Given the description of an element on the screen output the (x, y) to click on. 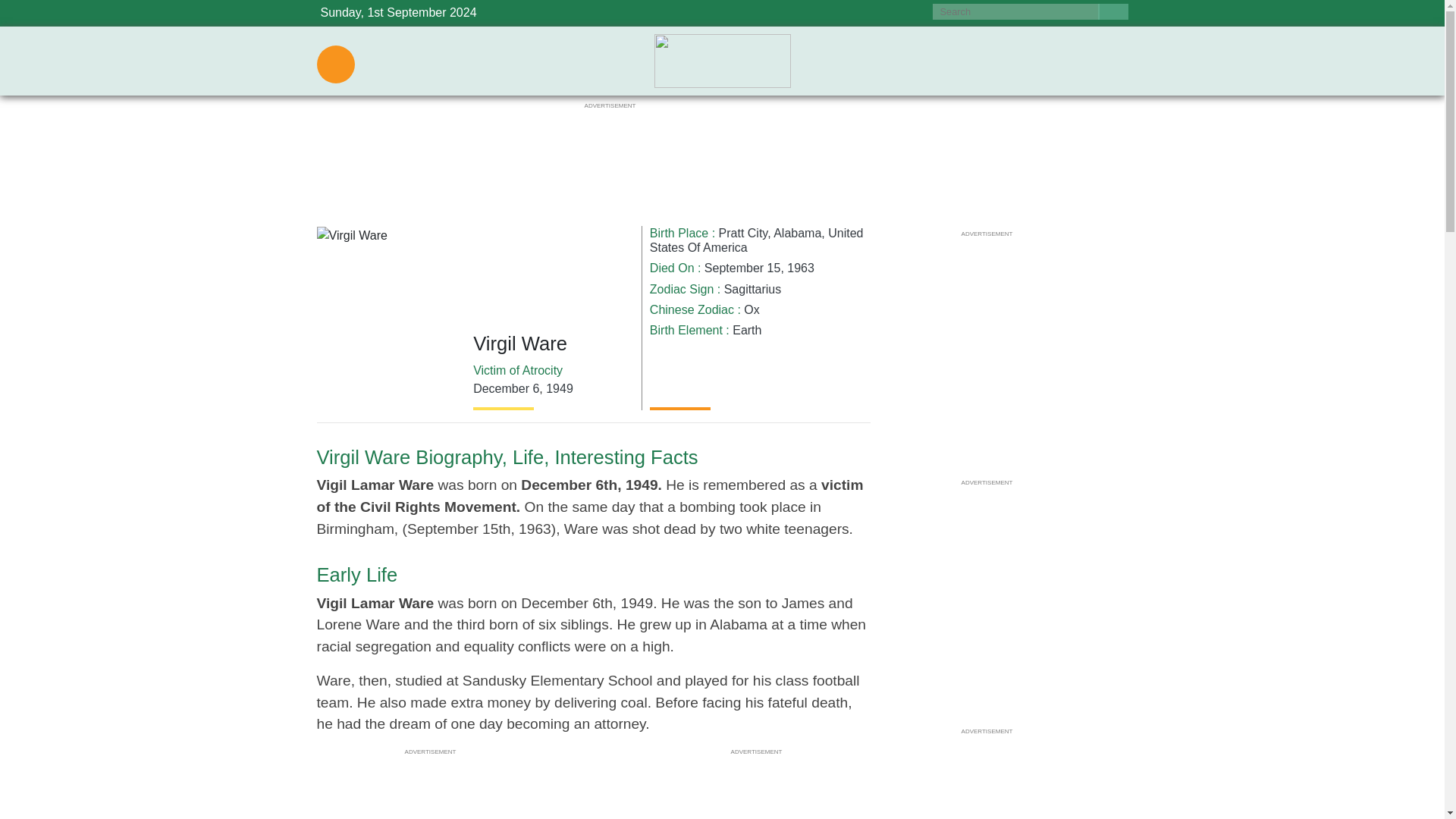
United States Of America (756, 239)
Zodiac Sign (681, 288)
September 15 (742, 267)
Ox (751, 309)
Chinese Zodiac (691, 309)
1963 (800, 267)
Alabama (797, 232)
Pratt City (743, 232)
December 6 (505, 388)
1949 (559, 388)
